Given the description of an element on the screen output the (x, y) to click on. 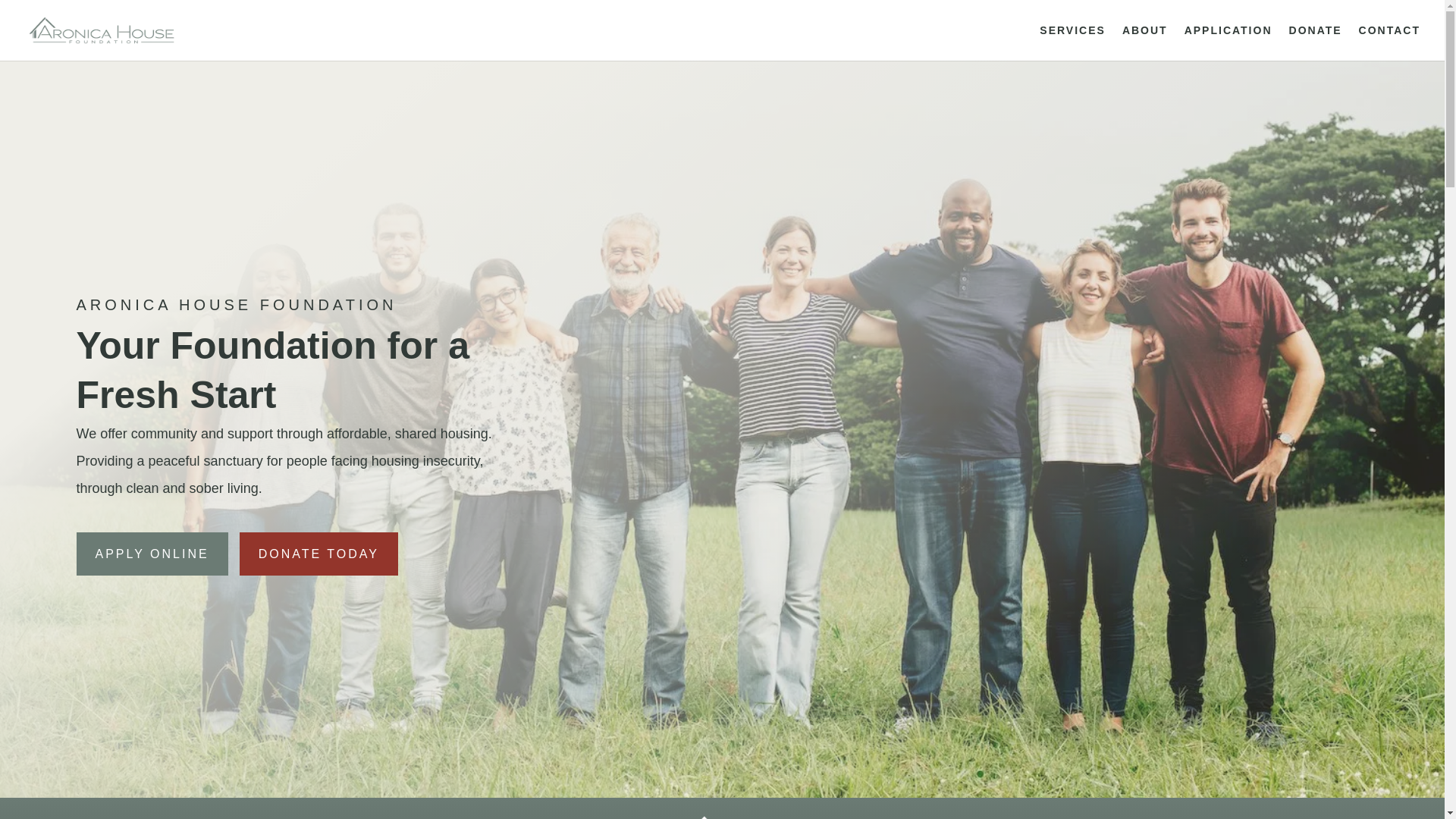
DONATE (1315, 42)
ABOUT (1144, 42)
APPLICATION (1228, 42)
DONATE TODAY (318, 553)
SERVICES (1072, 42)
CONTACT (1389, 42)
APPLY ONLINE (151, 553)
